Given the description of an element on the screen output the (x, y) to click on. 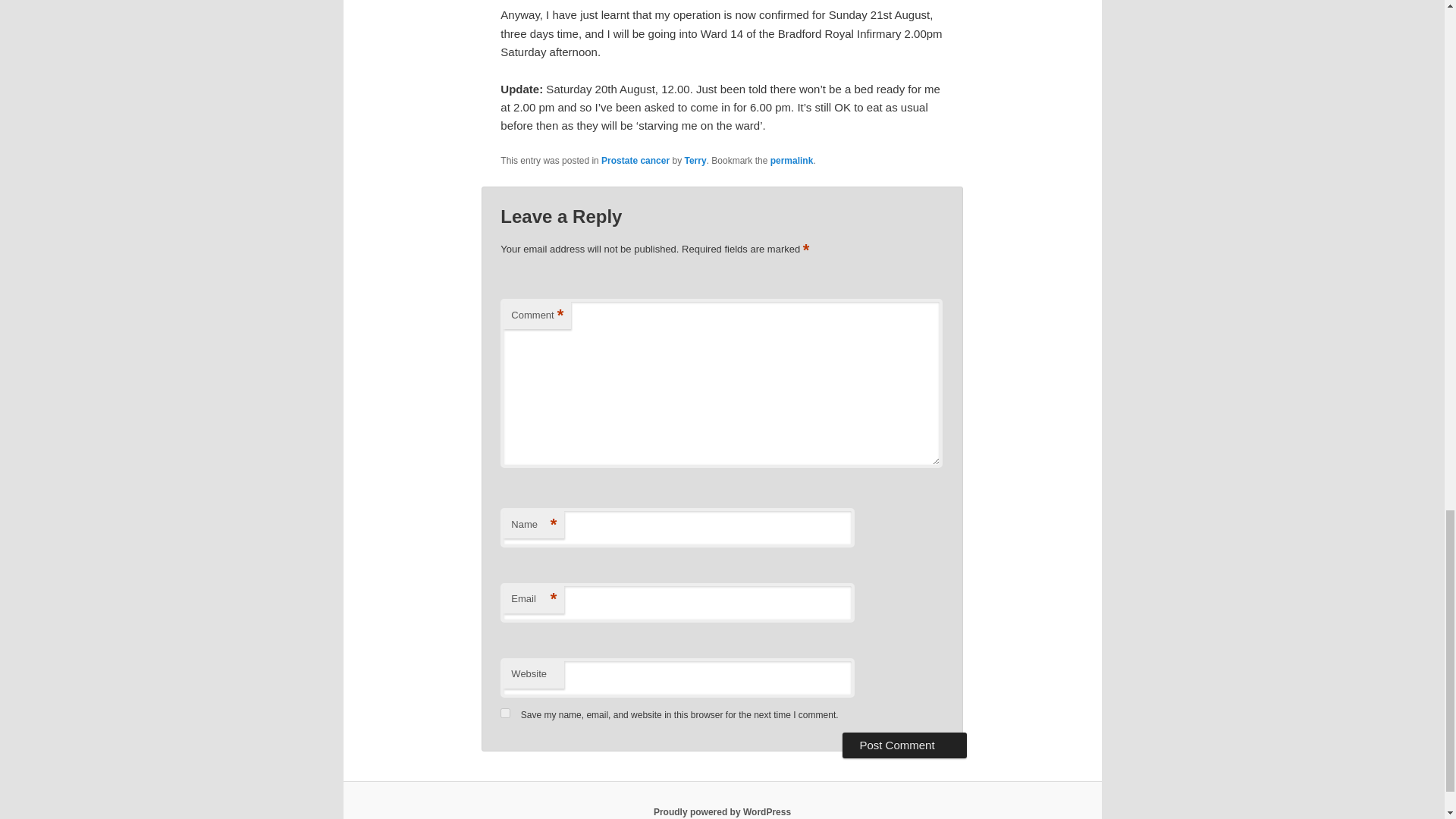
Post Comment (904, 745)
Proudly powered by WordPress (721, 811)
Prostate cancer (635, 160)
Semantic Personal Publishing Platform (721, 811)
Post Comment (904, 745)
permalink (791, 160)
Terry (695, 160)
yes (505, 713)
